Given the description of an element on the screen output the (x, y) to click on. 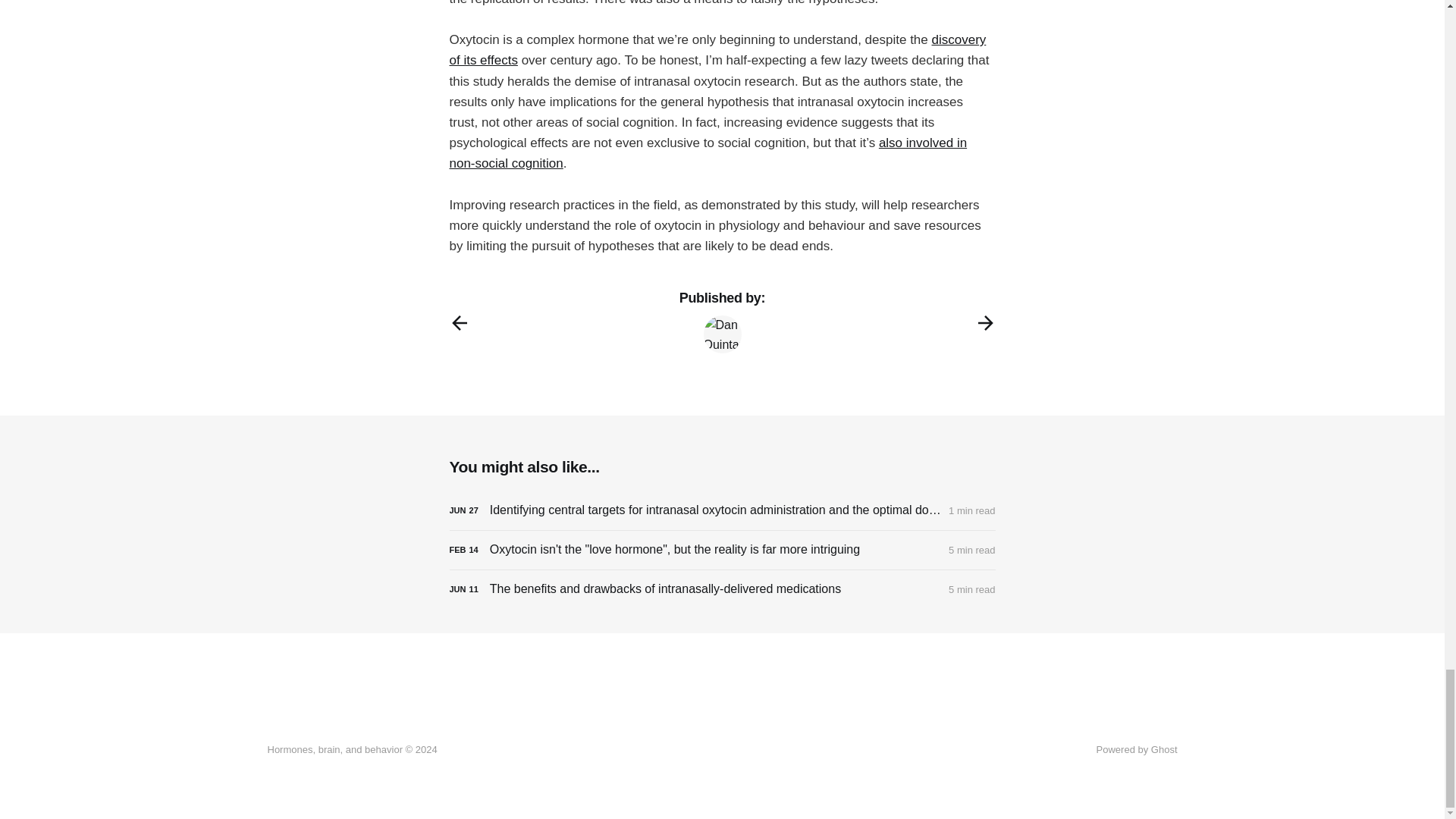
Powered by Ghost (1136, 749)
also involved in non-social cognition (707, 152)
discovery of its effects (716, 49)
